Given the description of an element on the screen output the (x, y) to click on. 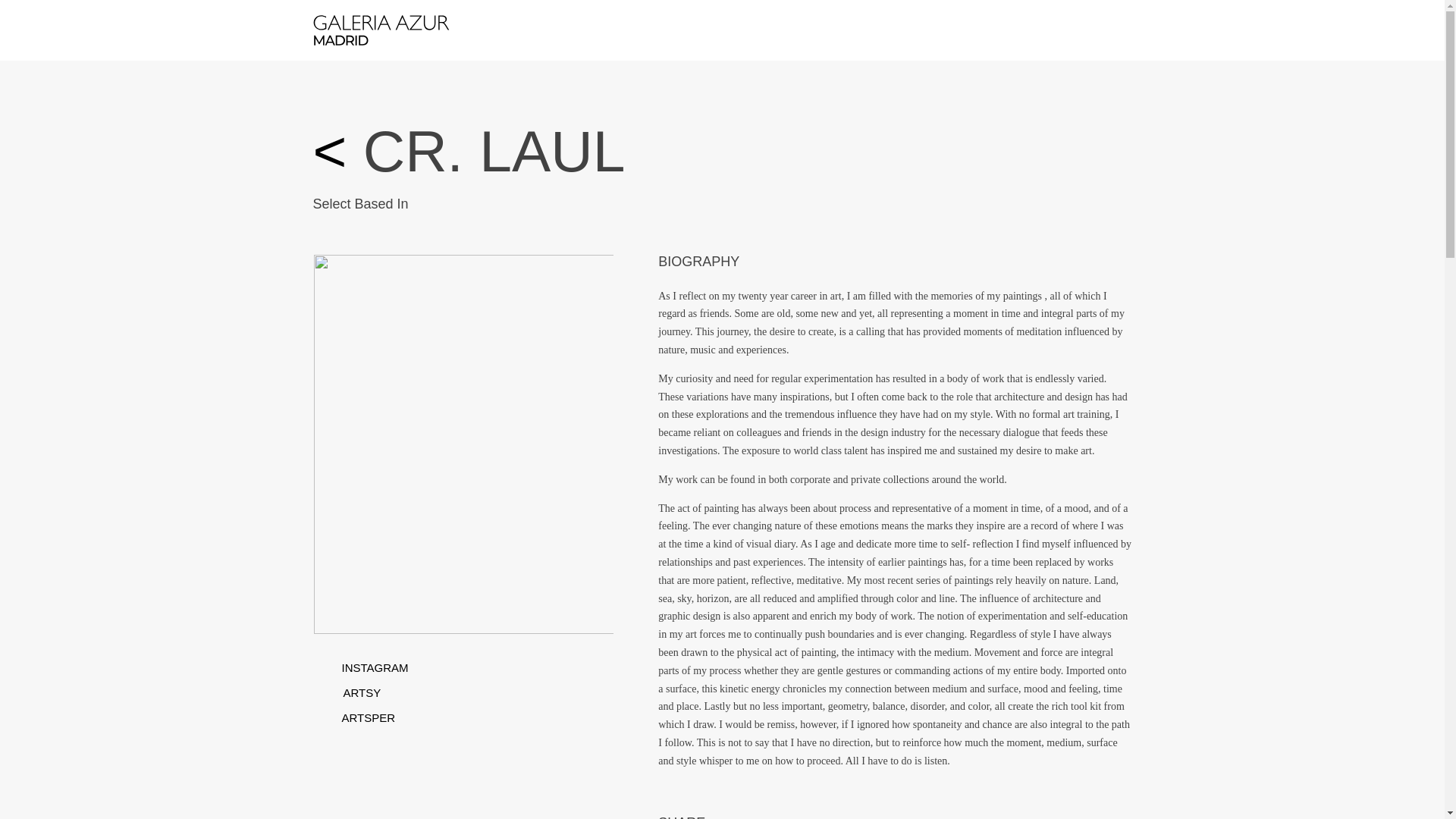
GALERIA AZUR MADRID (381, 30)
ARTSY (361, 692)
ARTSPER (367, 717)
INSTAGRAM (373, 667)
